Given the description of an element on the screen output the (x, y) to click on. 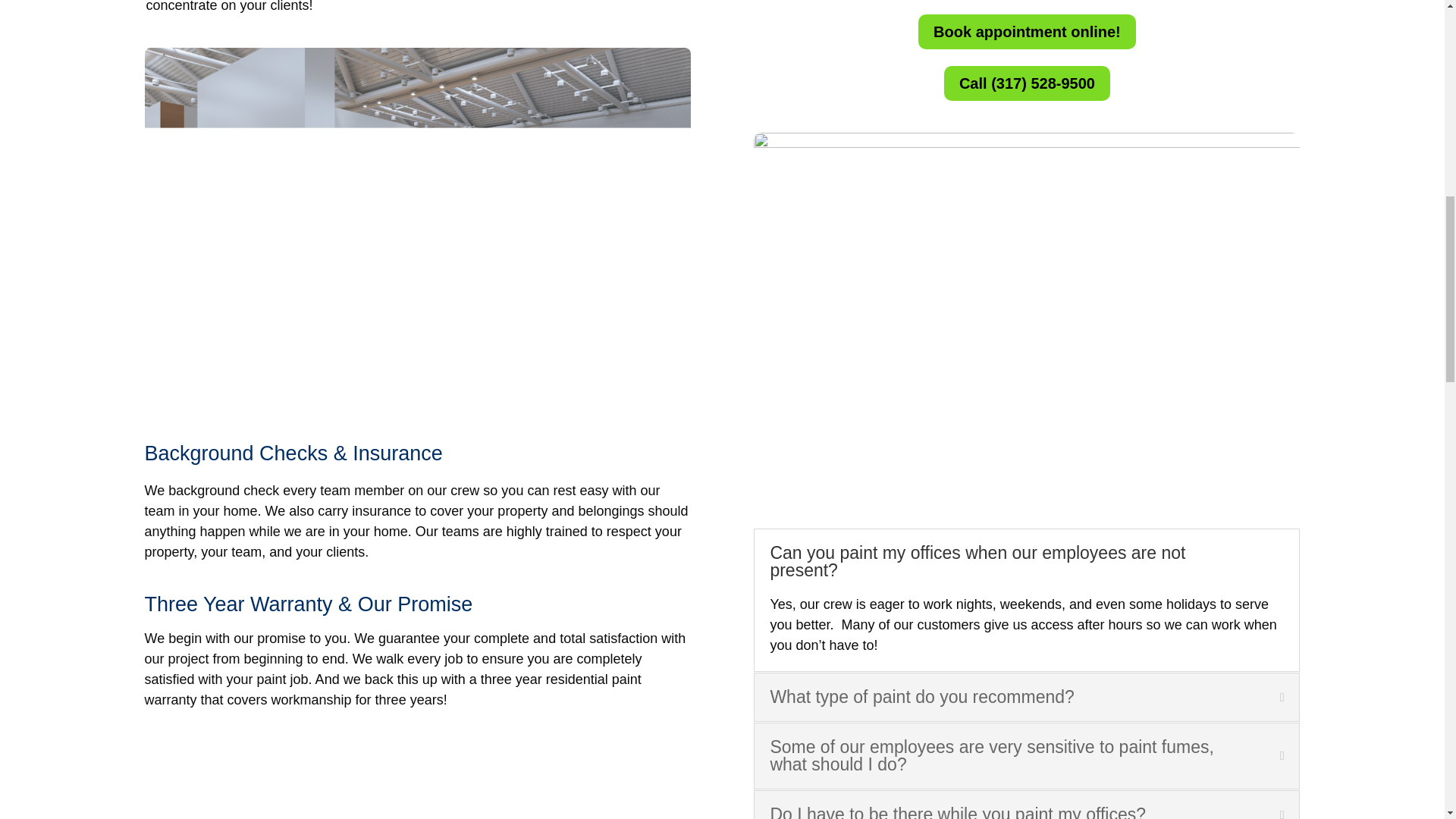
Book appointment online! (1026, 31)
